Given the description of an element on the screen output the (x, y) to click on. 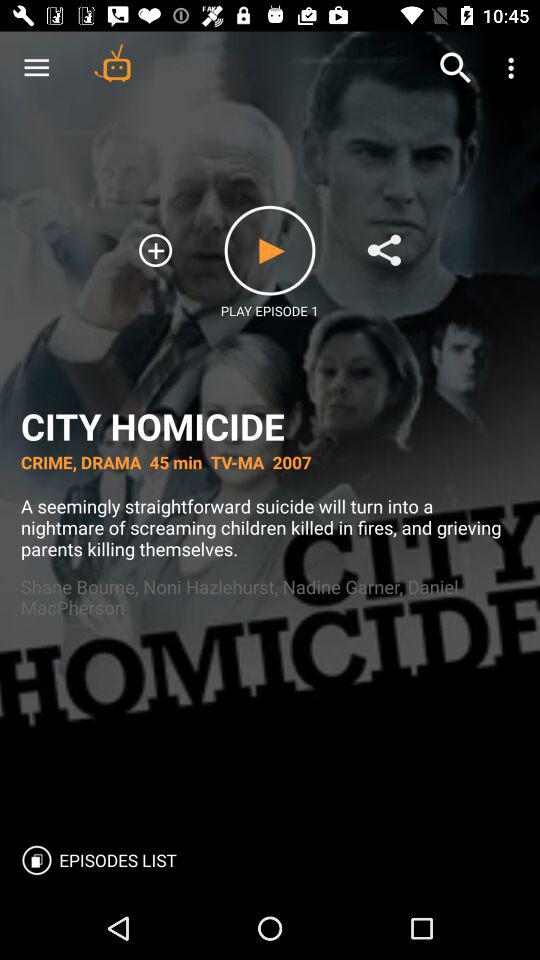
open the icon above city homicide icon (383, 250)
